Given the description of an element on the screen output the (x, y) to click on. 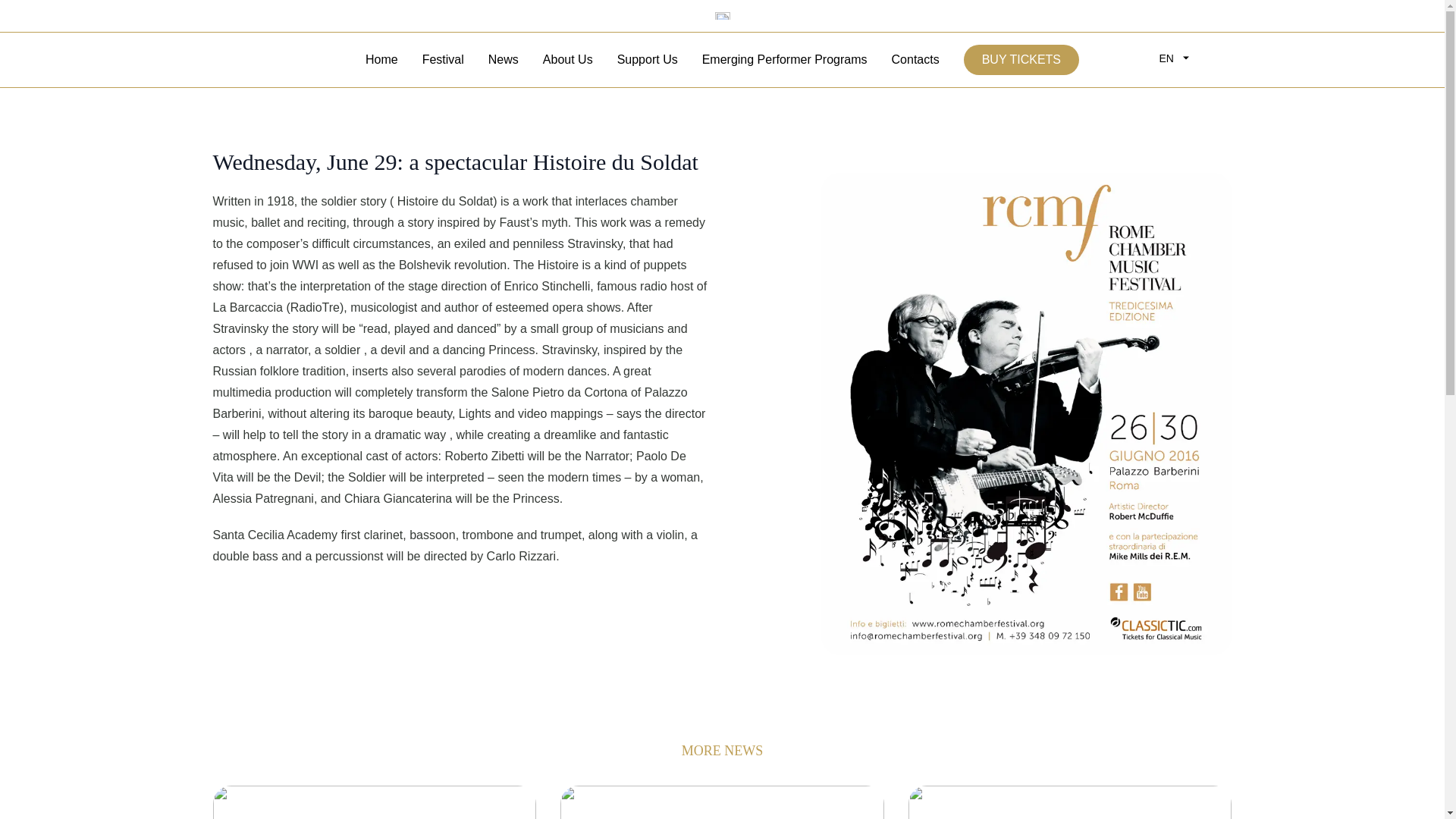
About Us (567, 59)
Emerging Performer Programs (784, 59)
BUY TICKETS (1020, 60)
Contacts (915, 59)
Home (381, 59)
News (502, 59)
Festival (443, 59)
EN (1189, 58)
Support Us (647, 59)
